Given the description of an element on the screen output the (x, y) to click on. 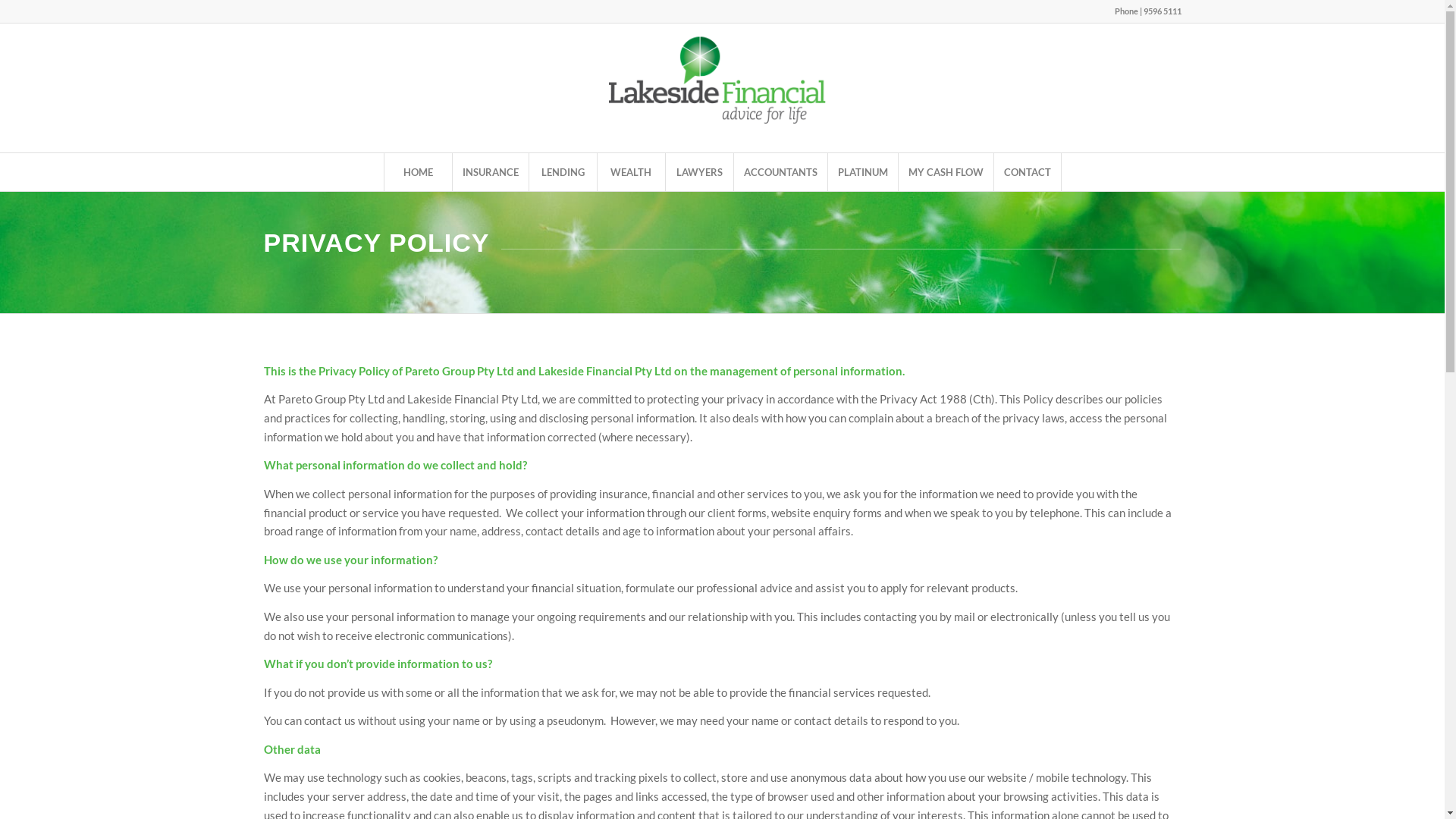
PLATINUM Element type: text (861, 172)
LENDING Element type: text (561, 172)
LAWYERS Element type: text (698, 172)
HOME Element type: text (417, 172)
CONTACT Element type: text (1027, 172)
ACCOUNTANTS Element type: text (779, 172)
WEALTH Element type: text (630, 172)
INSURANCE Element type: text (489, 172)
MY CASH FLOW Element type: text (945, 172)
